Given the description of an element on the screen output the (x, y) to click on. 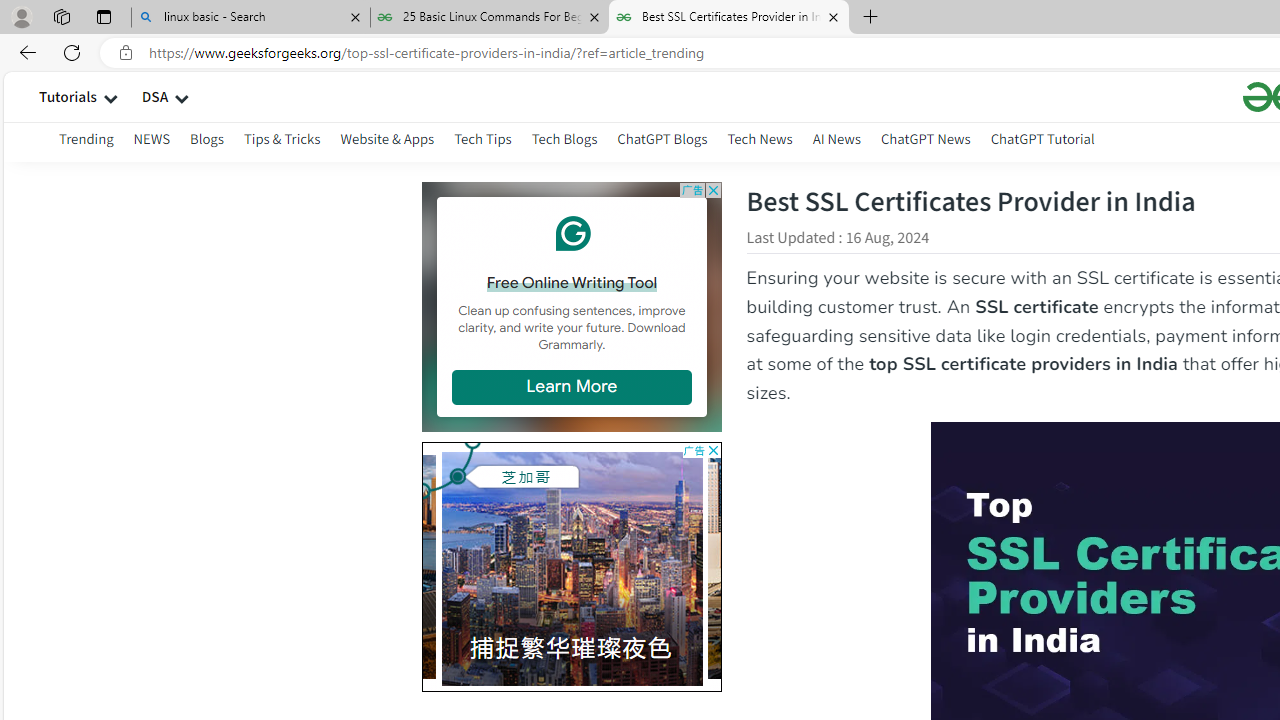
AutomationID: bg4 (856, 566)
Tech Tips (483, 142)
ChatGPT Tutorial (1042, 138)
Best SSL Certificates Provider in India - GeeksforGeeks (729, 17)
AutomationID: wheel (419, 443)
Tips & Tricks (281, 138)
AutomationID: tag (571, 565)
Tech Blogs (564, 138)
